Given the description of an element on the screen output the (x, y) to click on. 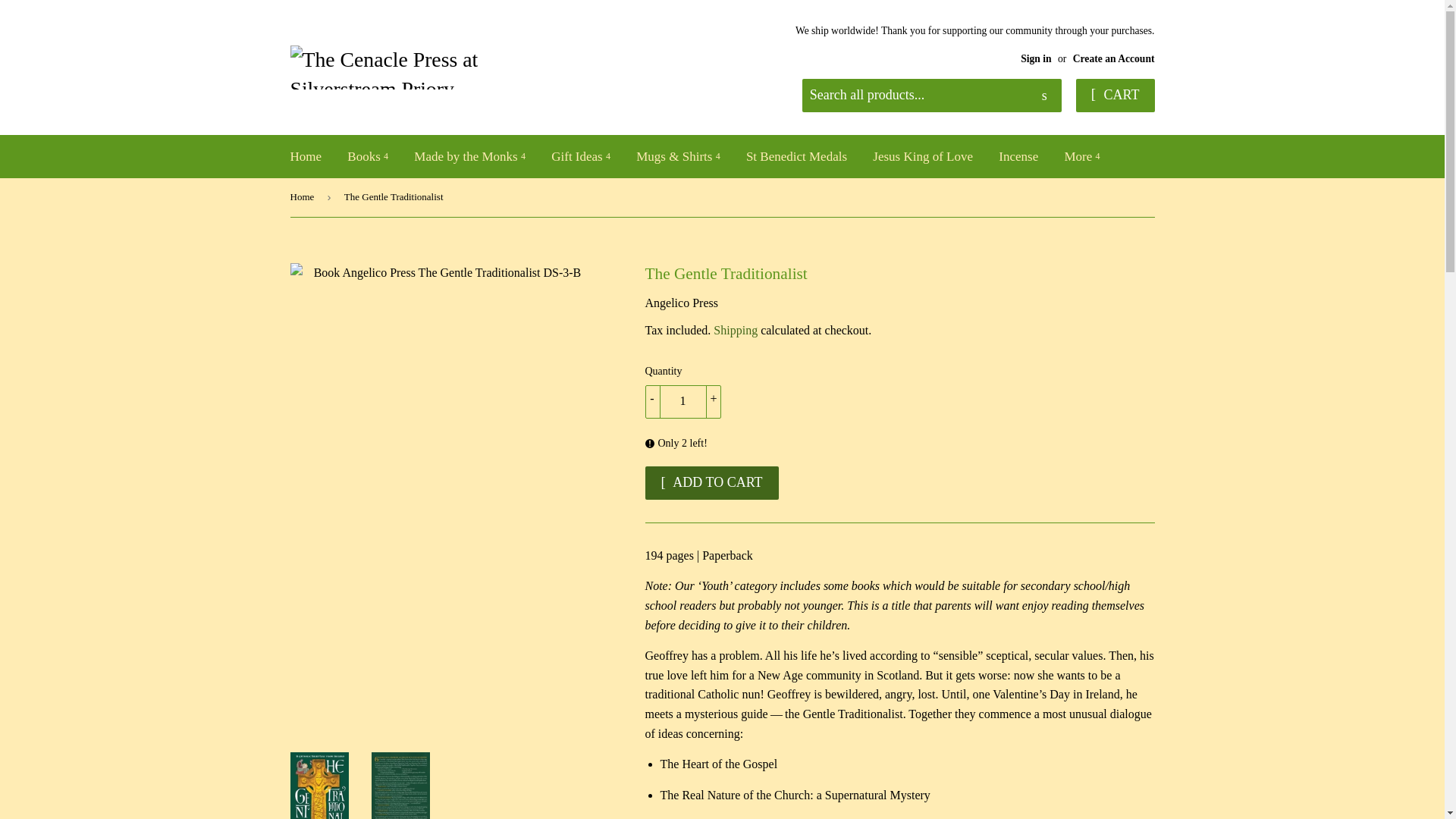
Create an Account (1113, 58)
CART (1114, 95)
1 (682, 401)
Sign in (1035, 58)
Search (1044, 96)
